Given the description of an element on the screen output the (x, y) to click on. 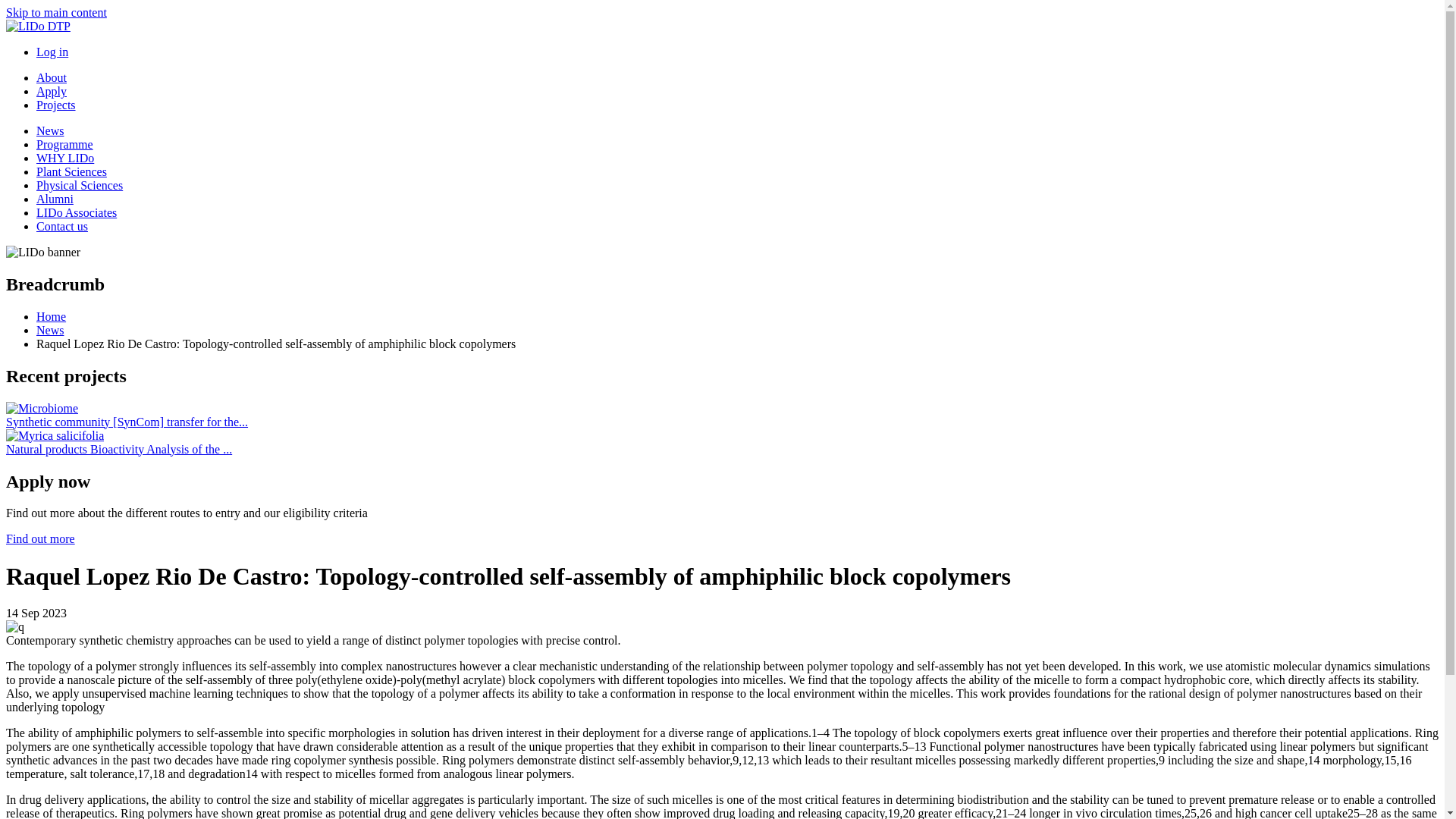
WHY LIDo (65, 157)
Plant Sciences (71, 171)
Programme (64, 144)
Projects (55, 104)
Contact us (61, 226)
LIDo Associates (76, 212)
About (51, 77)
Skip to main content (55, 11)
Home (50, 316)
Alumni (55, 198)
